Given the description of an element on the screen output the (x, y) to click on. 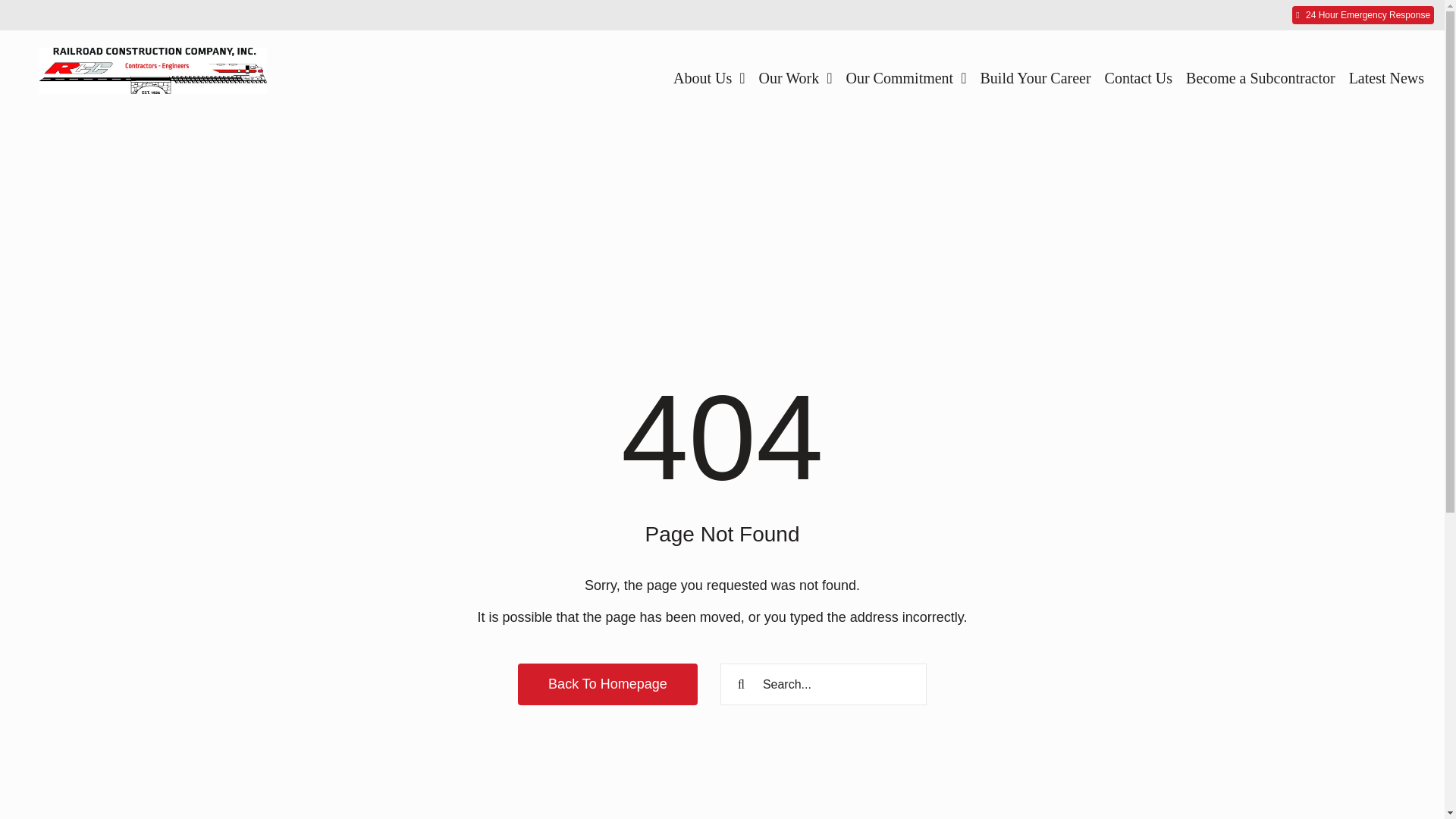
Contact Us (1138, 77)
Our Commitment (905, 77)
About Us (708, 77)
24 Hour Emergency Response (1363, 14)
Build Your Career (1034, 77)
Latest News (1386, 77)
Back To Homepage (607, 684)
Become a Subcontractor (1260, 77)
Our Work (795, 77)
